Given the description of an element on the screen output the (x, y) to click on. 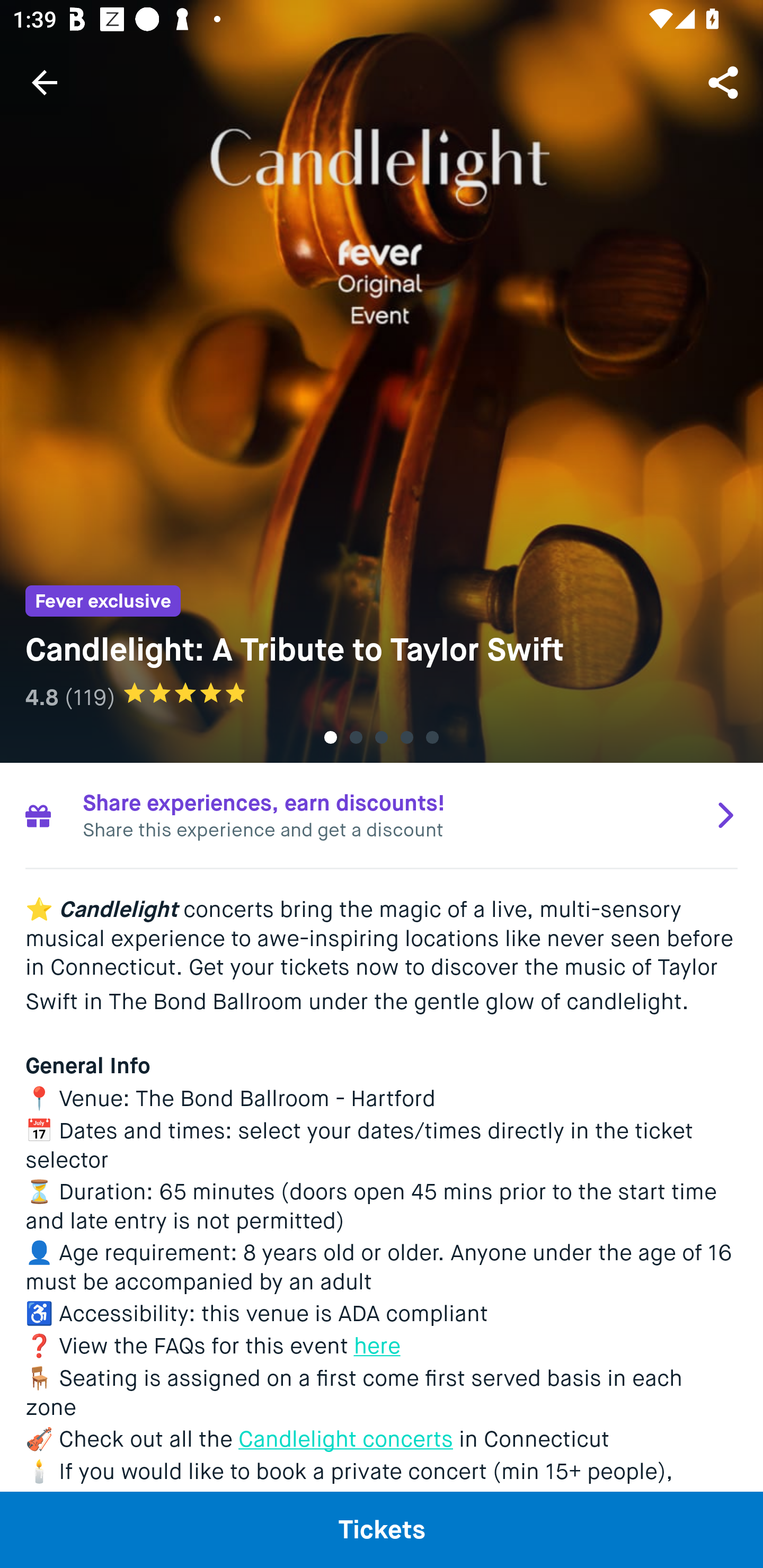
Navigate up (44, 82)
Share (724, 81)
(119) (89, 697)
Tickets (381, 1529)
